Given the description of an element on the screen output the (x, y) to click on. 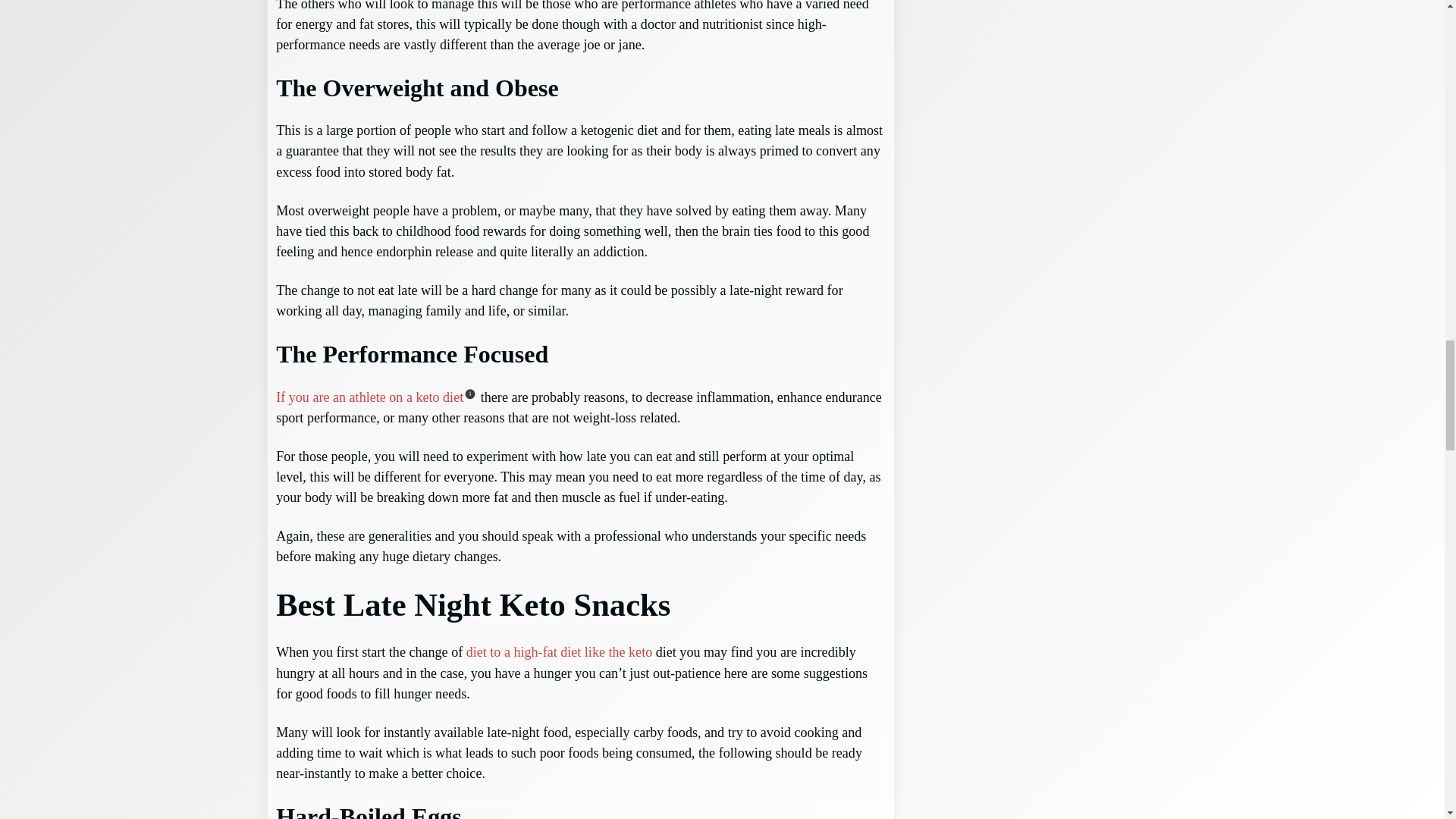
diet to a high-fat diet like the keto (558, 652)
If you are an athlete on a keto diet (369, 396)
